Given the description of an element on the screen output the (x, y) to click on. 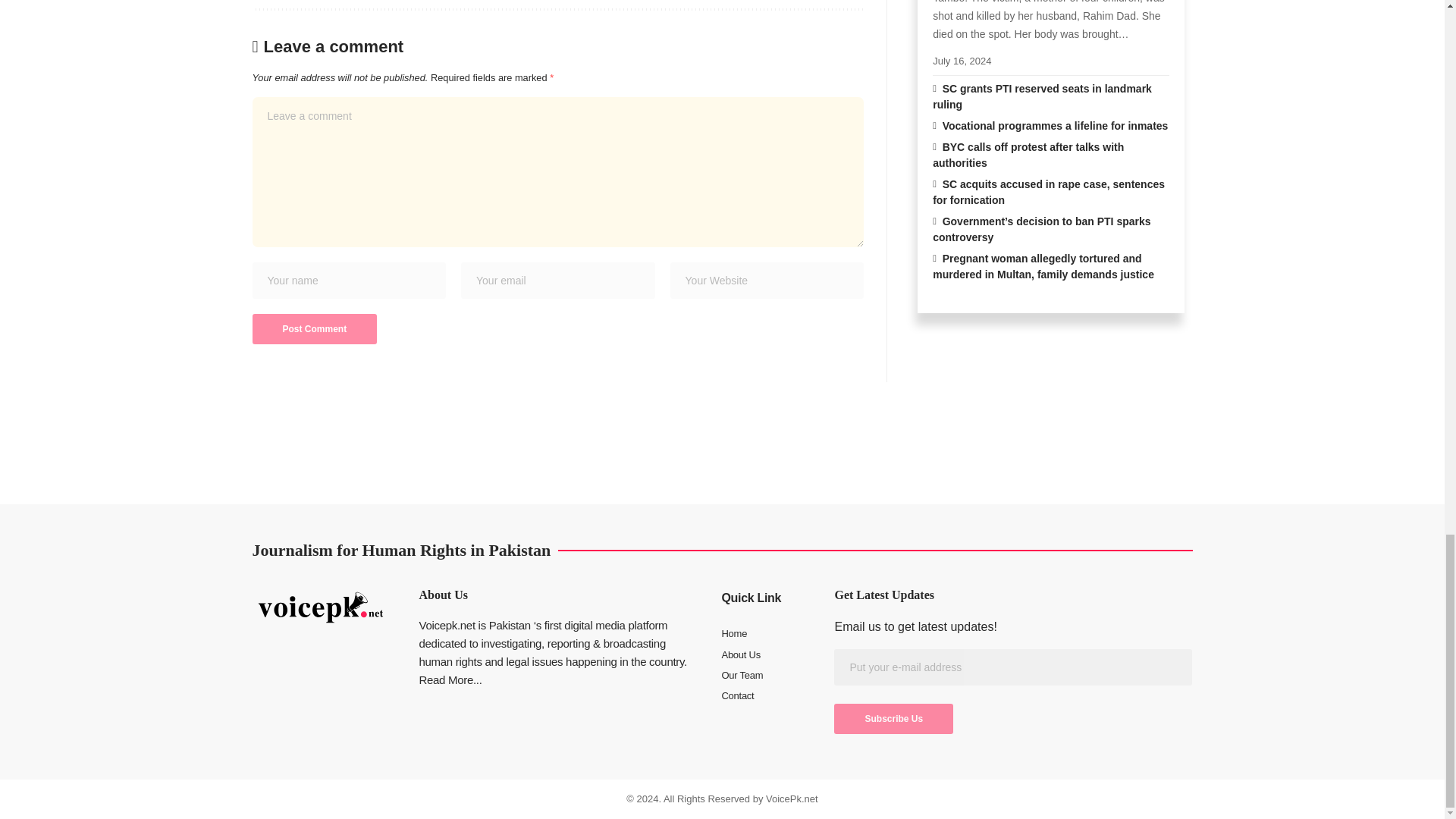
Post Comment (314, 328)
Subscribe Us (893, 718)
